Given the description of an element on the screen output the (x, y) to click on. 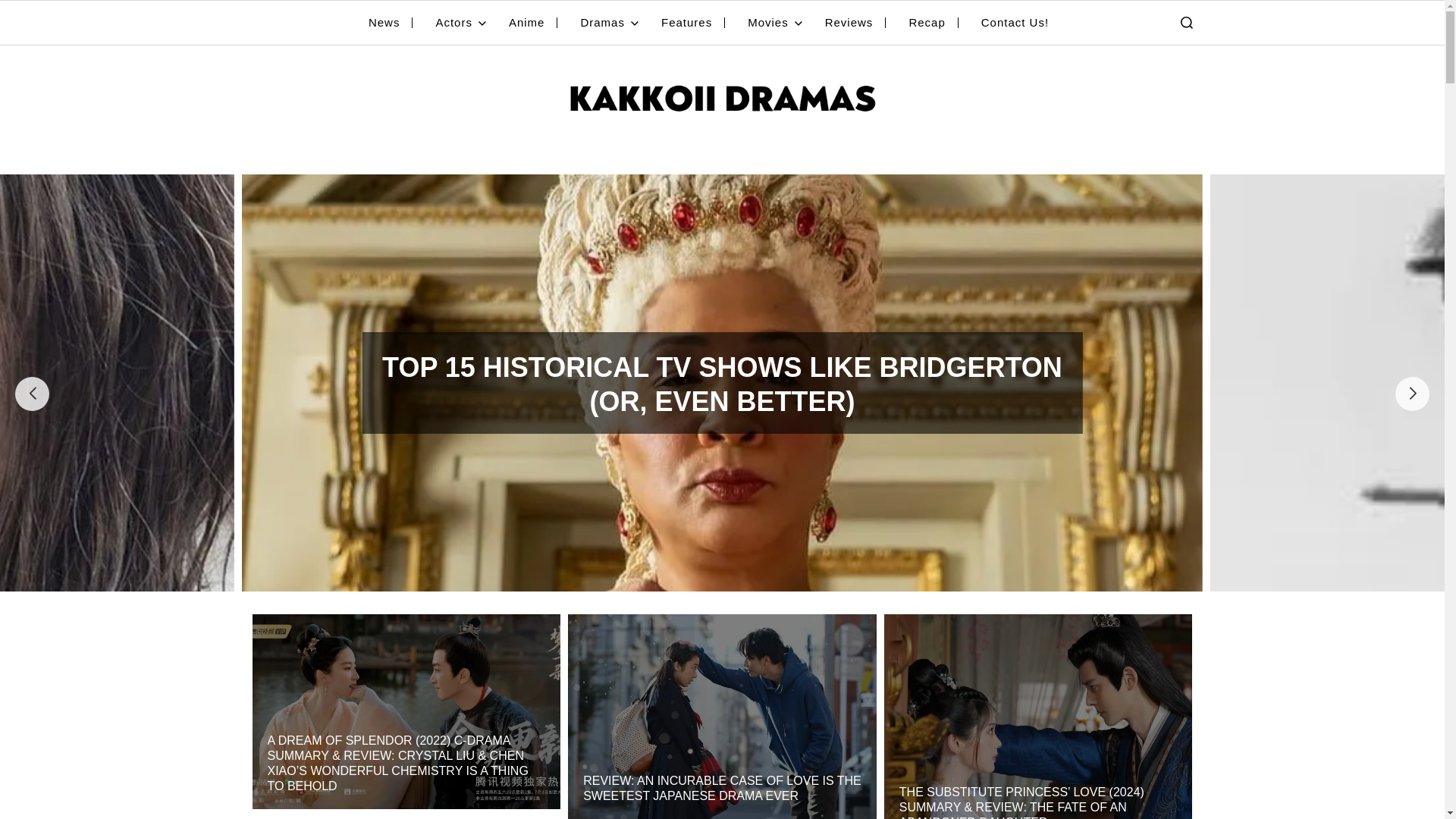
Reviews (855, 22)
Recap (933, 22)
News (390, 22)
Actors (460, 22)
Contact Us! (1014, 22)
Movies (775, 22)
Dramas (609, 22)
Features (693, 22)
Anime (532, 22)
